Given the description of an element on the screen output the (x, y) to click on. 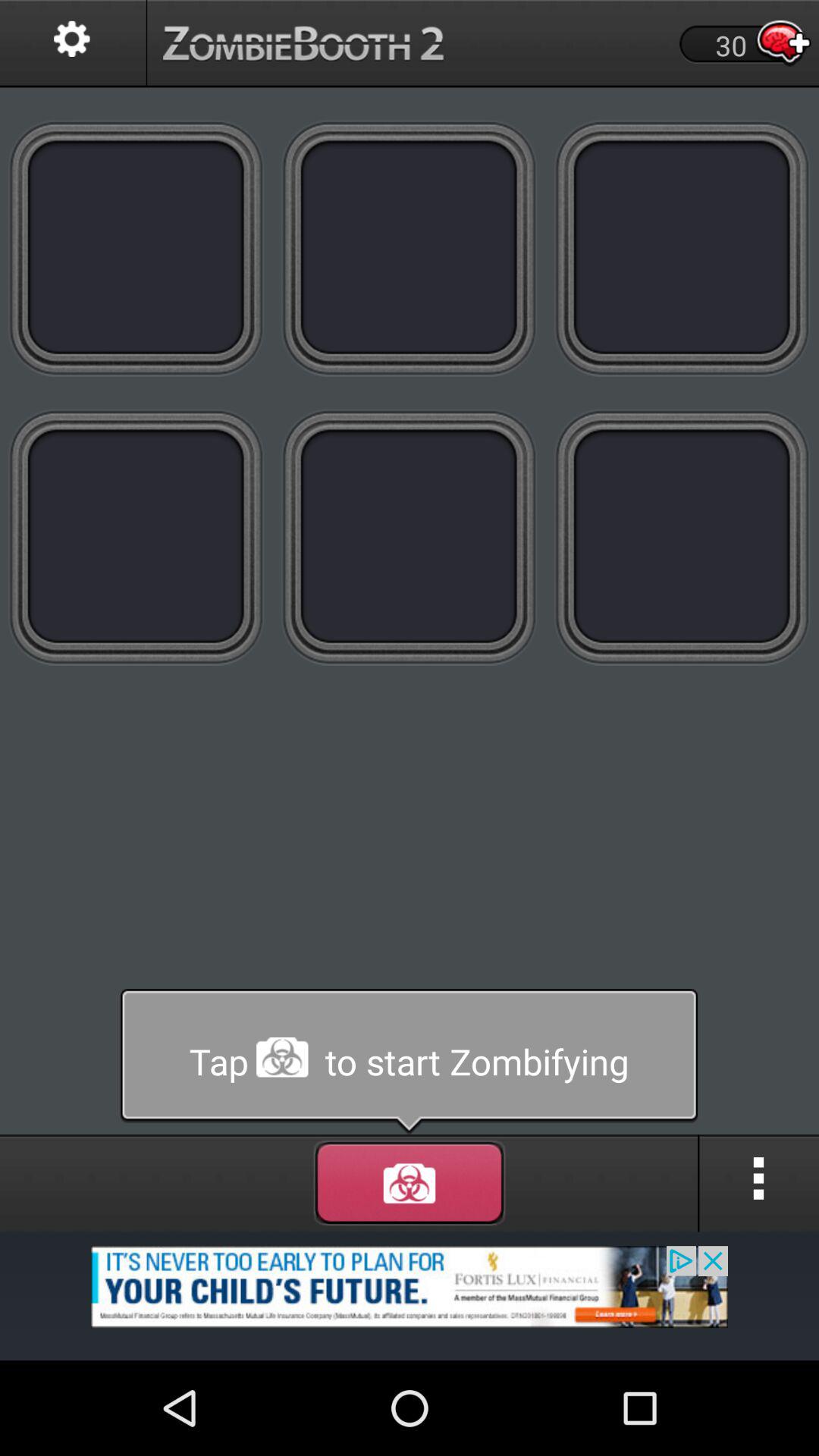
menu icon (759, 1182)
